Given the description of an element on the screen output the (x, y) to click on. 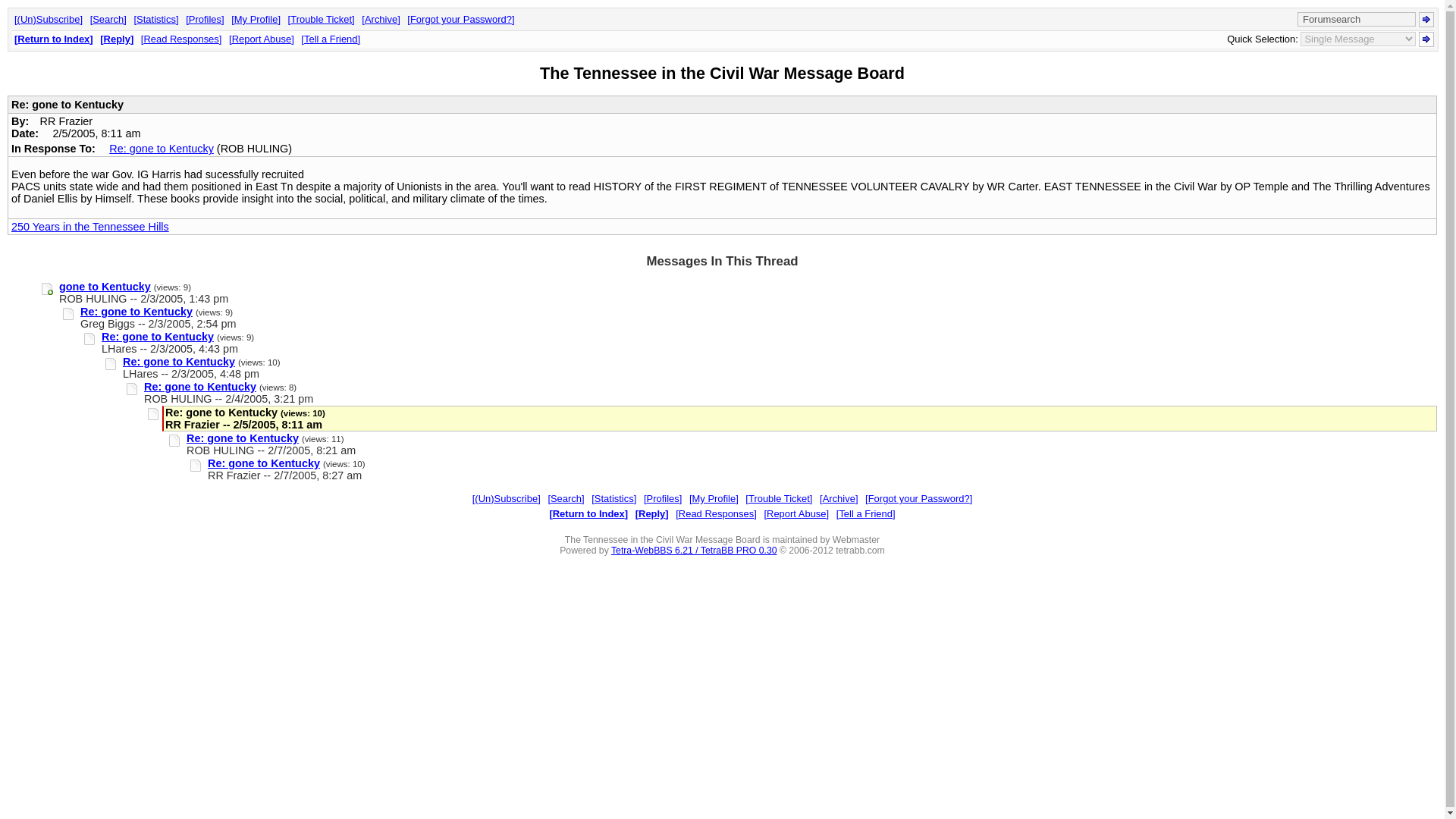
Statistics (155, 19)
My Profile (713, 498)
gone to Kentucky (105, 286)
Submit (1426, 38)
Archive (838, 498)
Report Abuse (795, 513)
Forgot your Password? (460, 19)
Trouble Ticket (321, 19)
